Given the description of an element on the screen output the (x, y) to click on. 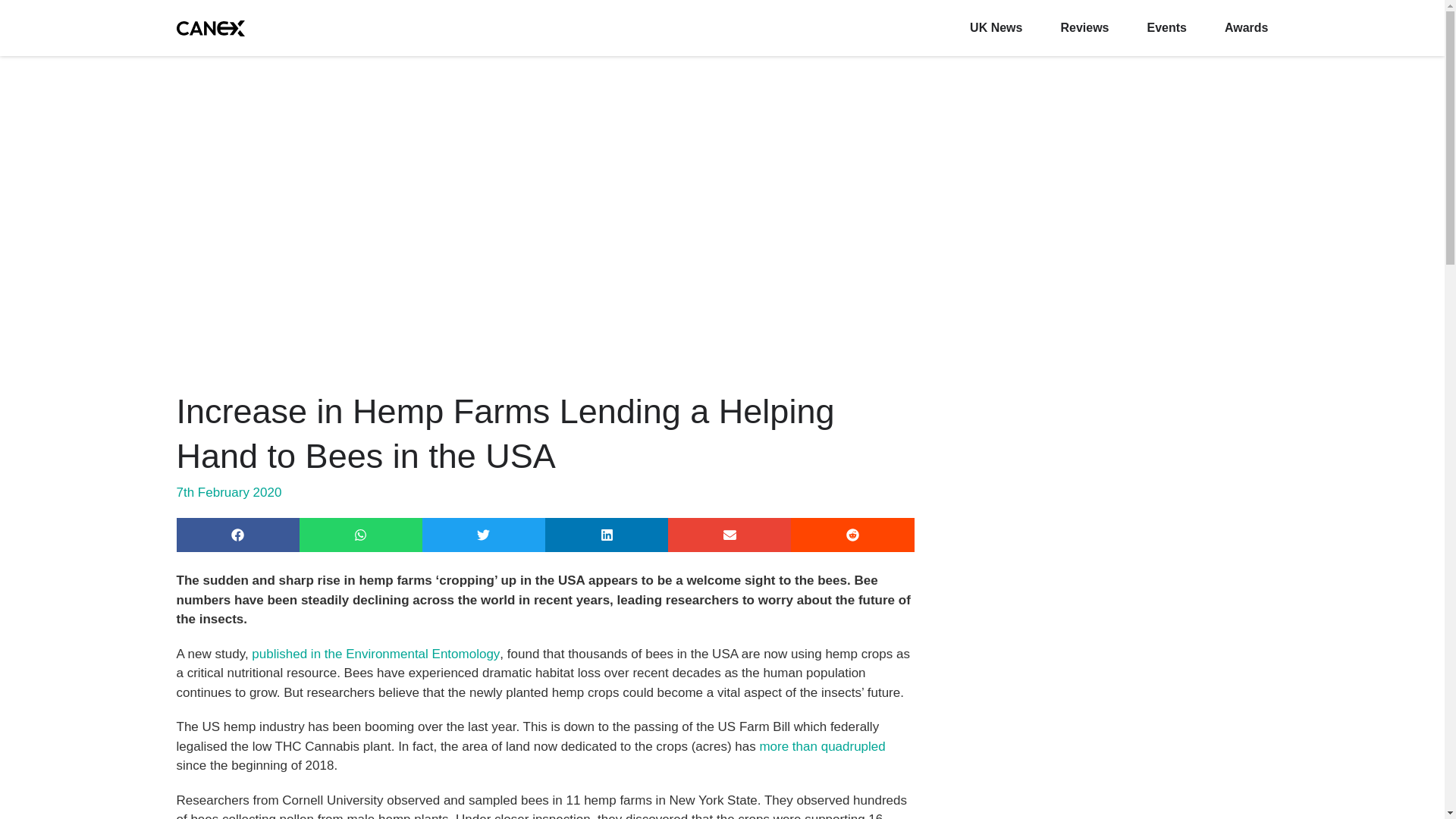
UK News (995, 27)
Events (1166, 27)
more than quadrupled (821, 745)
Reviews (1083, 27)
Awards (1246, 27)
published in the Environmental Entomology (375, 653)
